Given the description of an element on the screen output the (x, y) to click on. 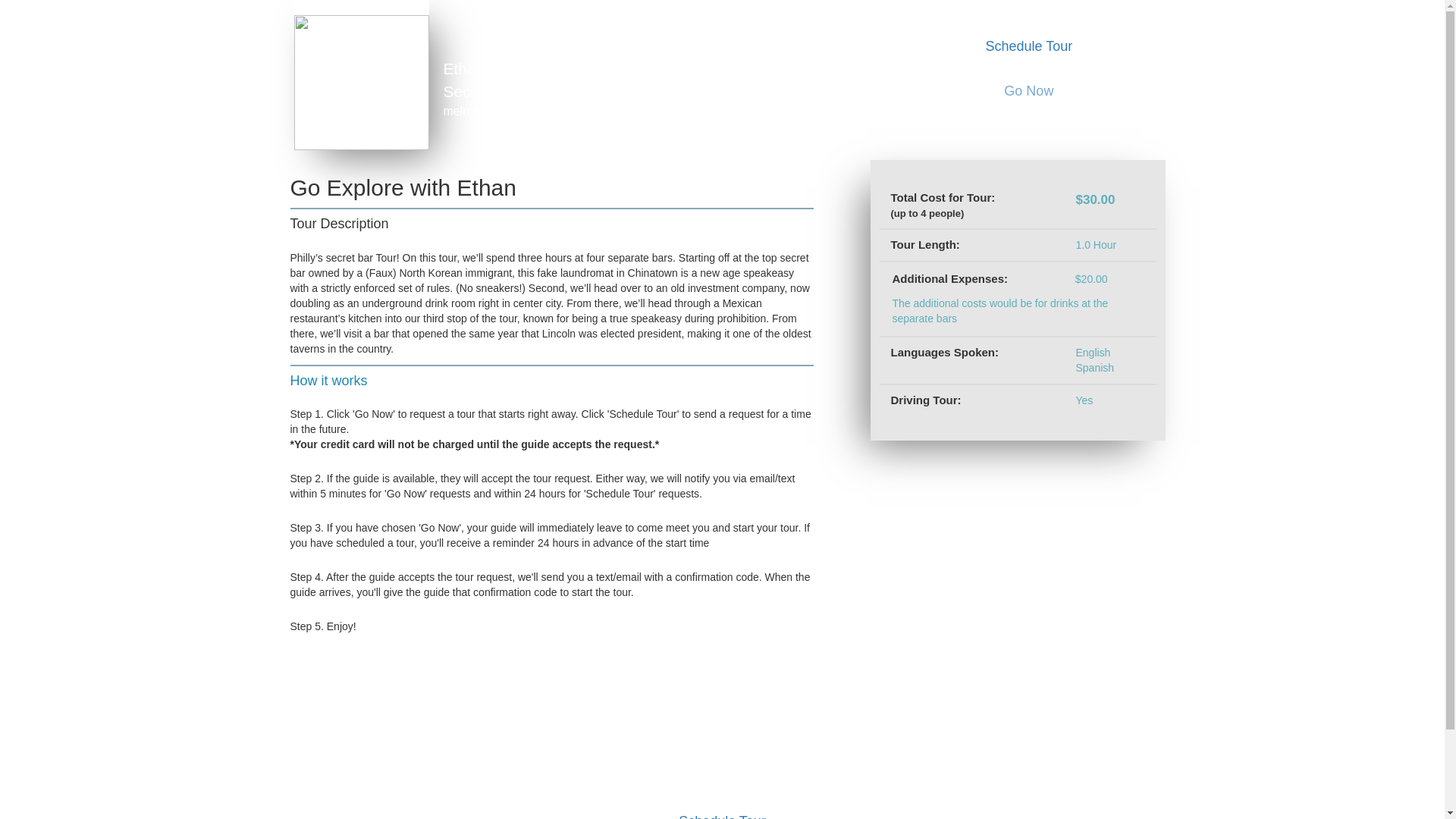
Schedule Tour (721, 812)
Go Now (1028, 91)
Schedule Tour (1028, 46)
